Given the description of an element on the screen output the (x, y) to click on. 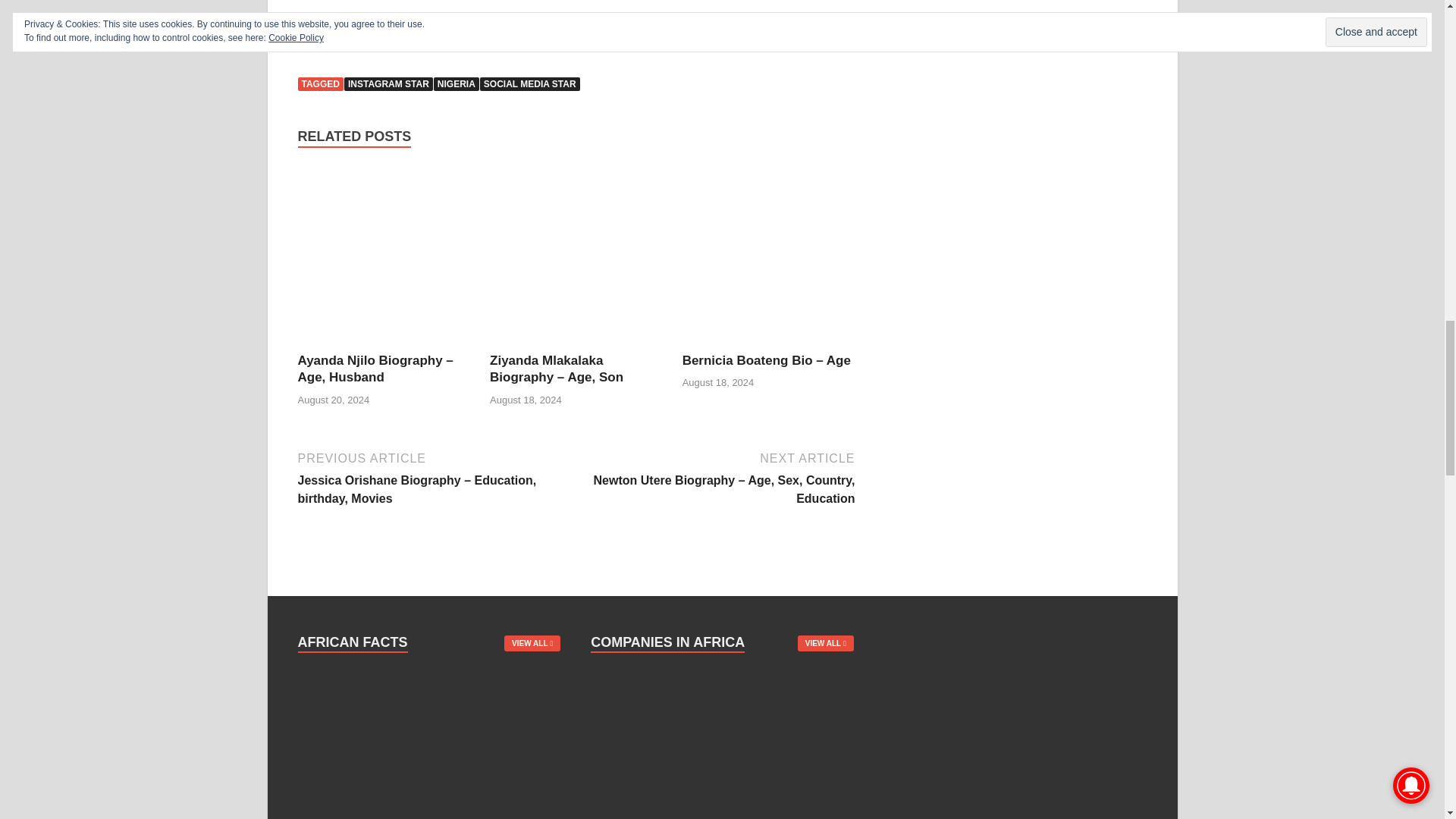
Tumblr (494, 29)
Flipboard (433, 29)
WhatsApp (463, 29)
Facebook (312, 29)
Twitter (342, 29)
Pinterest (403, 29)
Email (373, 29)
